Given the description of an element on the screen output the (x, y) to click on. 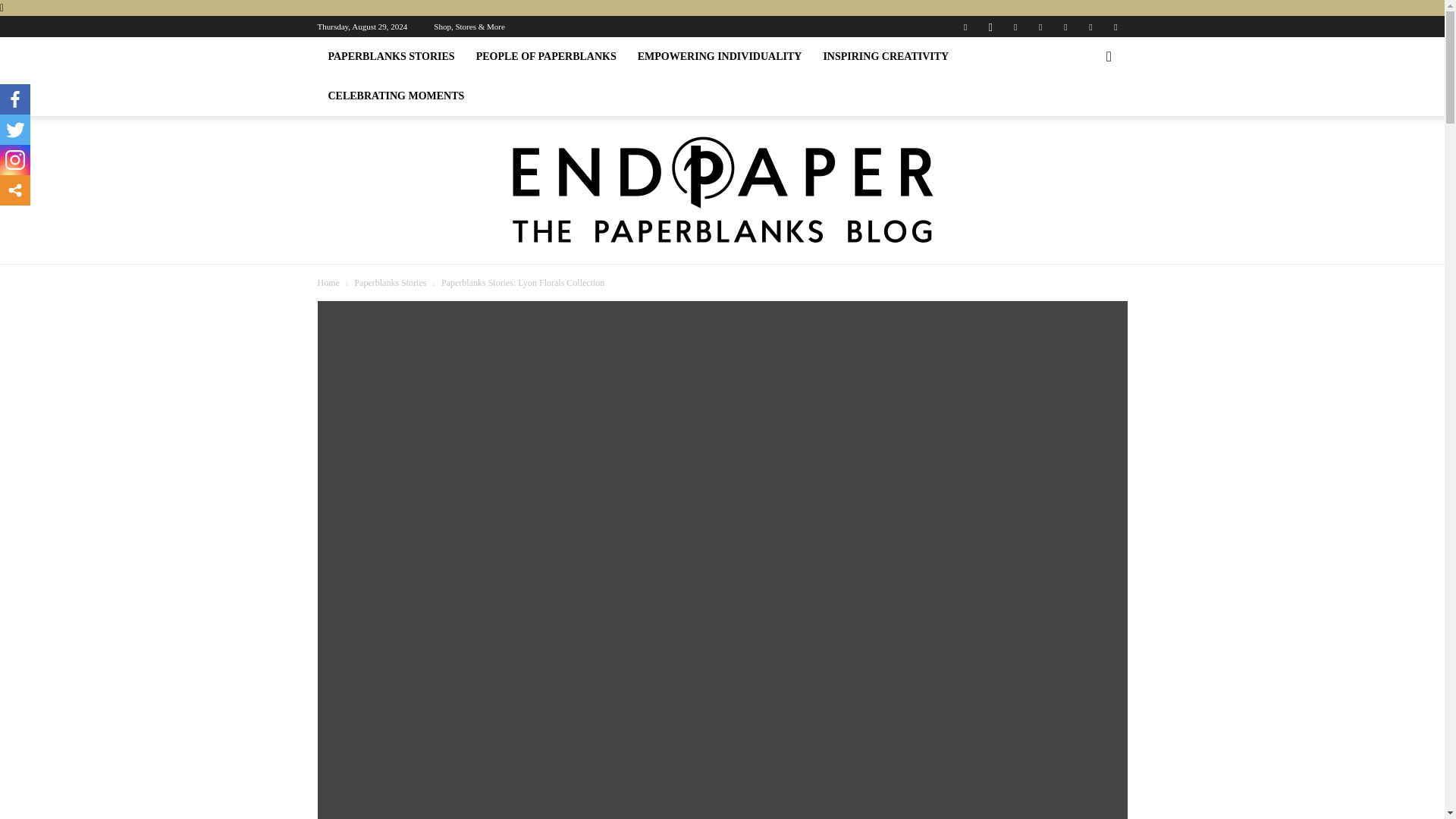
Facebook (964, 25)
TikTok (1065, 25)
Paperblanks Stories (389, 282)
Home (328, 282)
View all posts in Paperblanks Stories (389, 282)
Instagram (989, 25)
Endpaper: The Paperblanks Blog (722, 189)
EMPOWERING INDIVIDUALITY (719, 56)
PAPERBLANKS STORIES (390, 56)
INSPIRING CREATIVITY (885, 56)
